Given the description of an element on the screen output the (x, y) to click on. 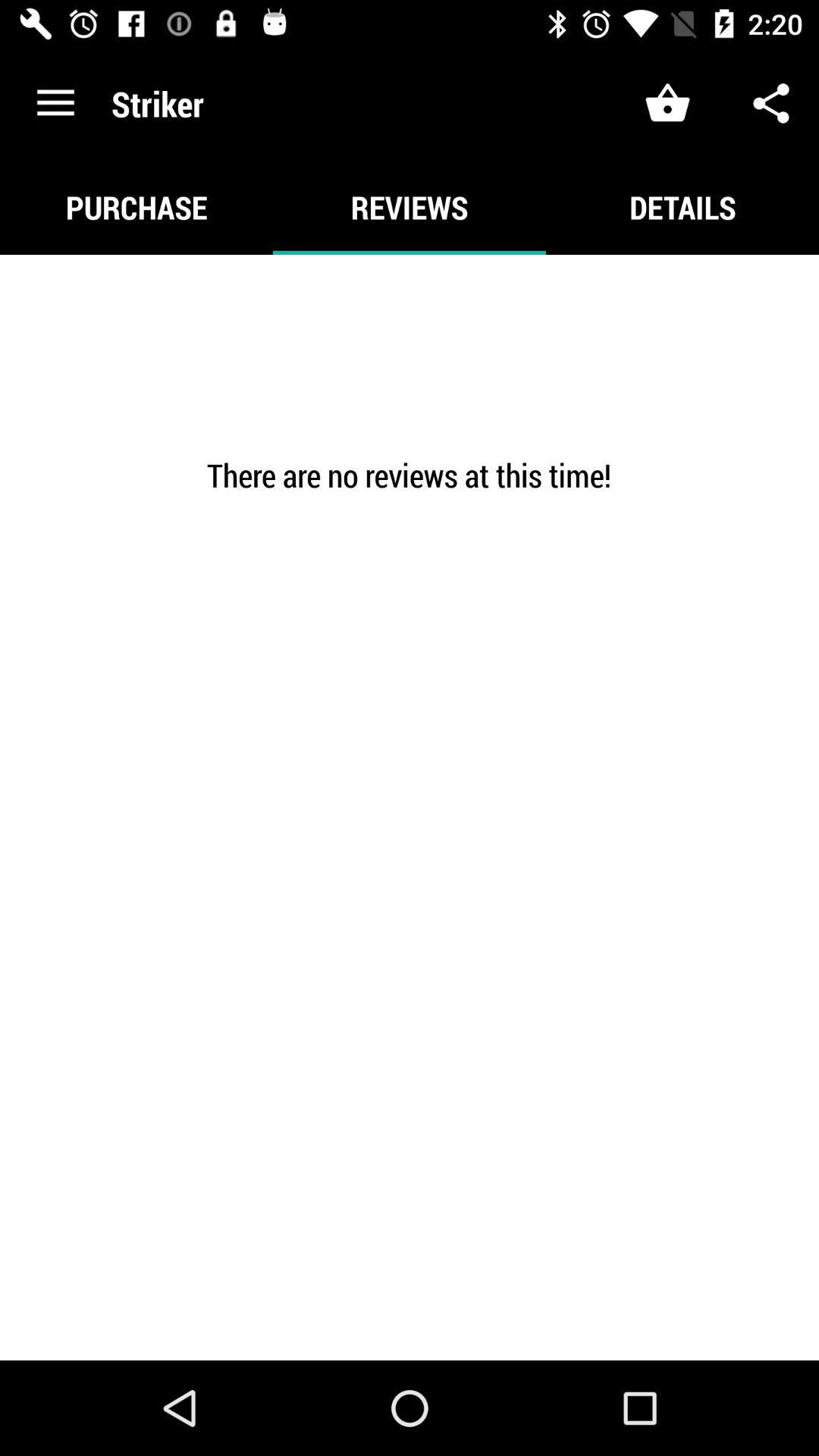
open the item next to the striker (55, 103)
